Given the description of an element on the screen output the (x, y) to click on. 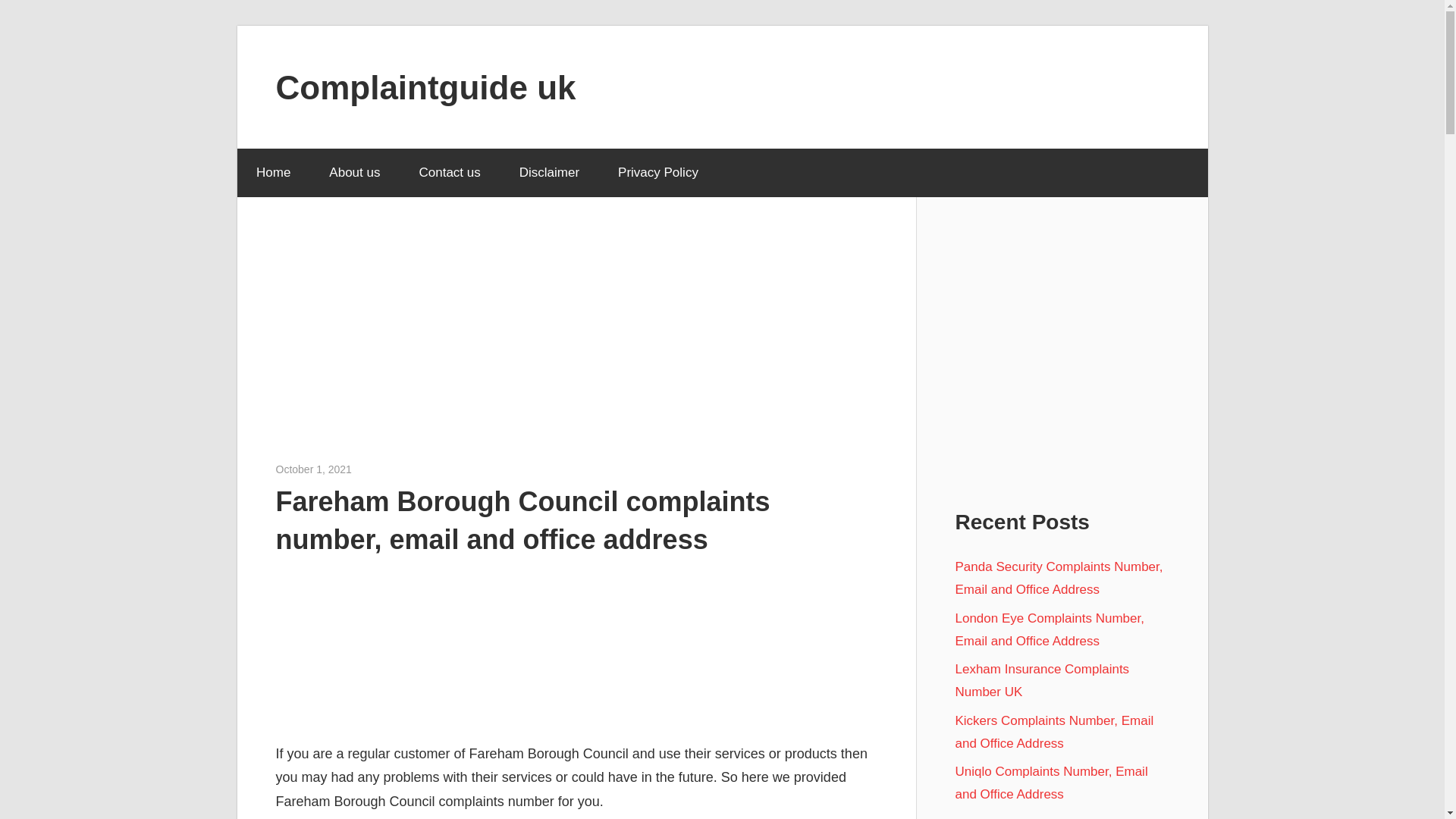
Home (271, 172)
Advertisement (576, 645)
Contact us (448, 172)
Privacy Policy (657, 172)
Rob Wilson (379, 469)
View all posts by Rob Wilson (379, 469)
Complaintguide uk (426, 86)
Advertisement (1062, 363)
Disclaimer (548, 172)
About us (354, 172)
October 1, 2021 (314, 469)
Advertisement (576, 347)
1:23 pm (314, 469)
